Given the description of an element on the screen output the (x, y) to click on. 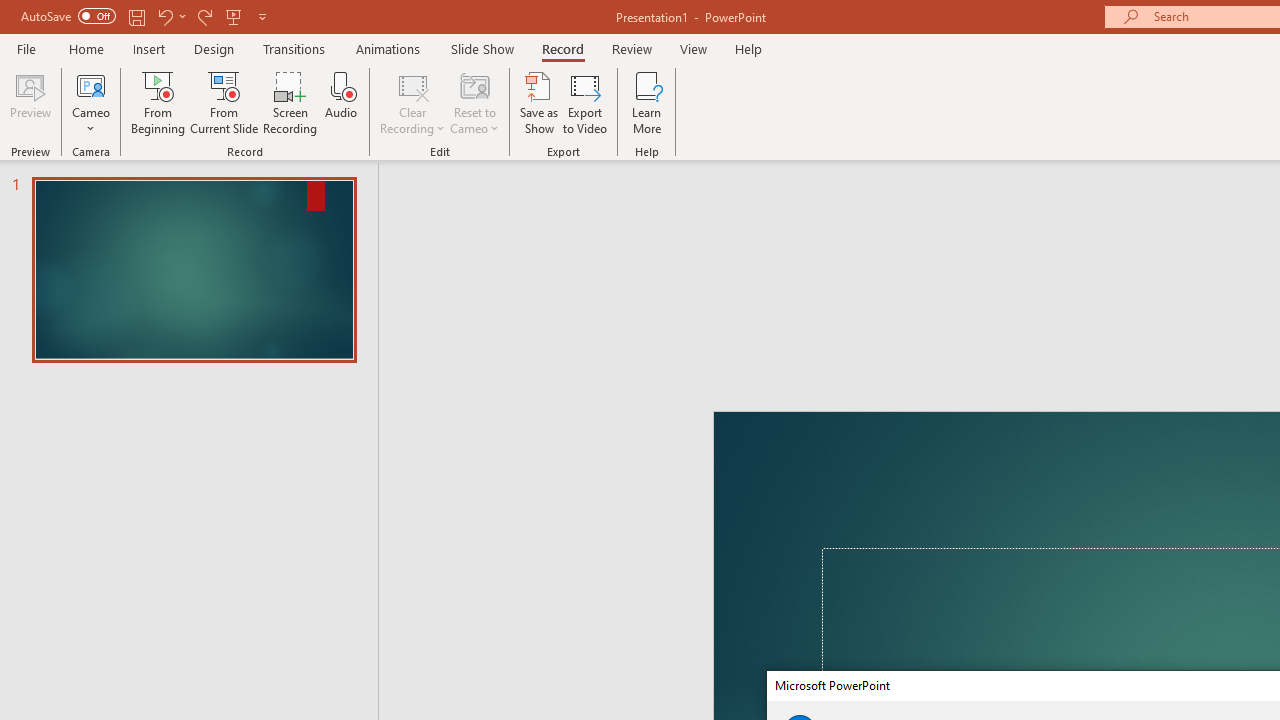
Learn More (646, 102)
From Beginning... (158, 102)
From Current Slide... (224, 102)
Export to Video (585, 102)
